Given the description of an element on the screen output the (x, y) to click on. 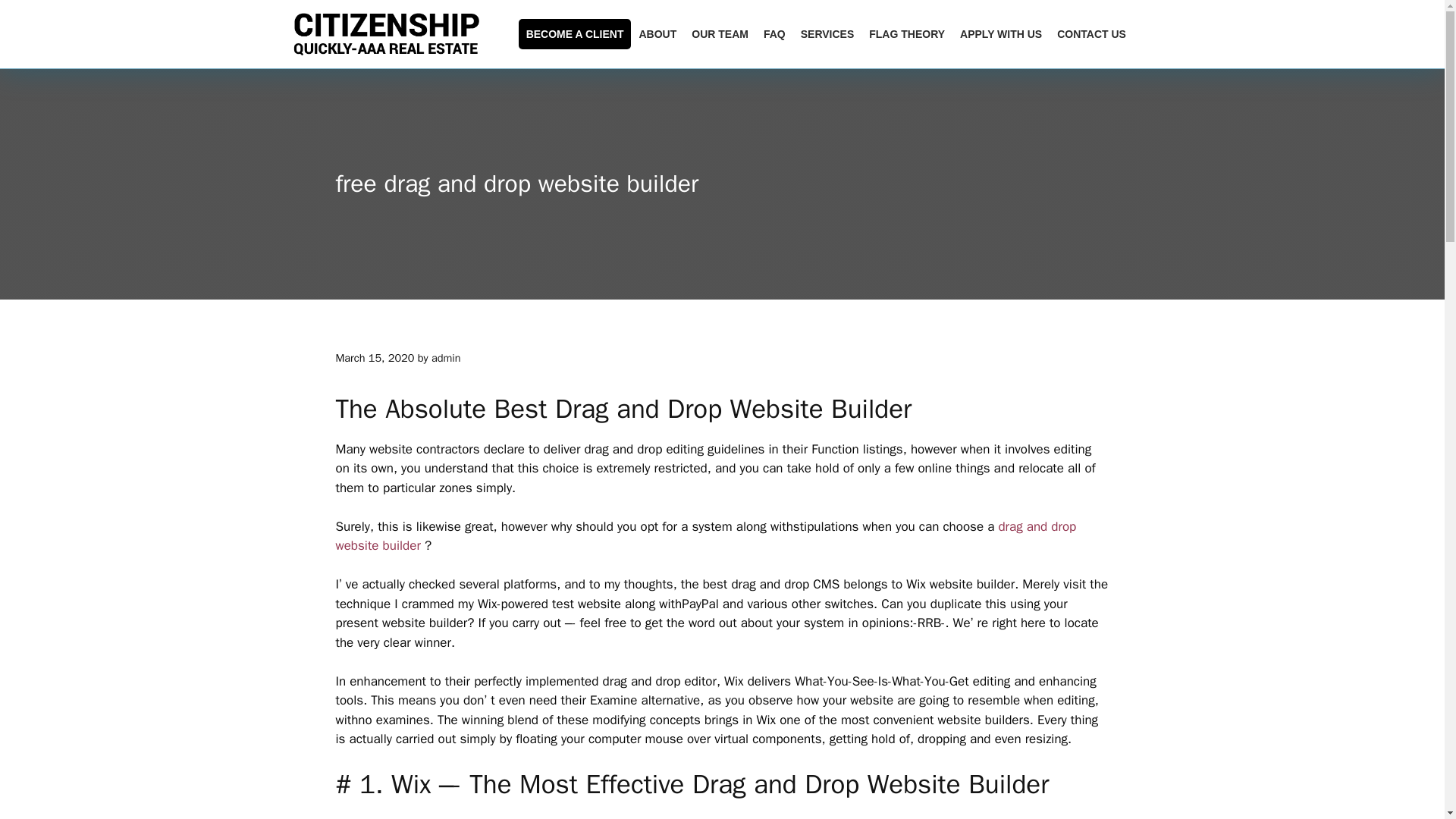
FAQ (774, 33)
BECOME A CLIENT (574, 33)
CONTACT US (1091, 33)
ABOUT (657, 33)
SERVICES (827, 33)
View all posts by admin (445, 357)
FLAG THEORY (906, 33)
OUR TEAM (719, 33)
APPLY WITH US (1000, 33)
